Given the description of an element on the screen output the (x, y) to click on. 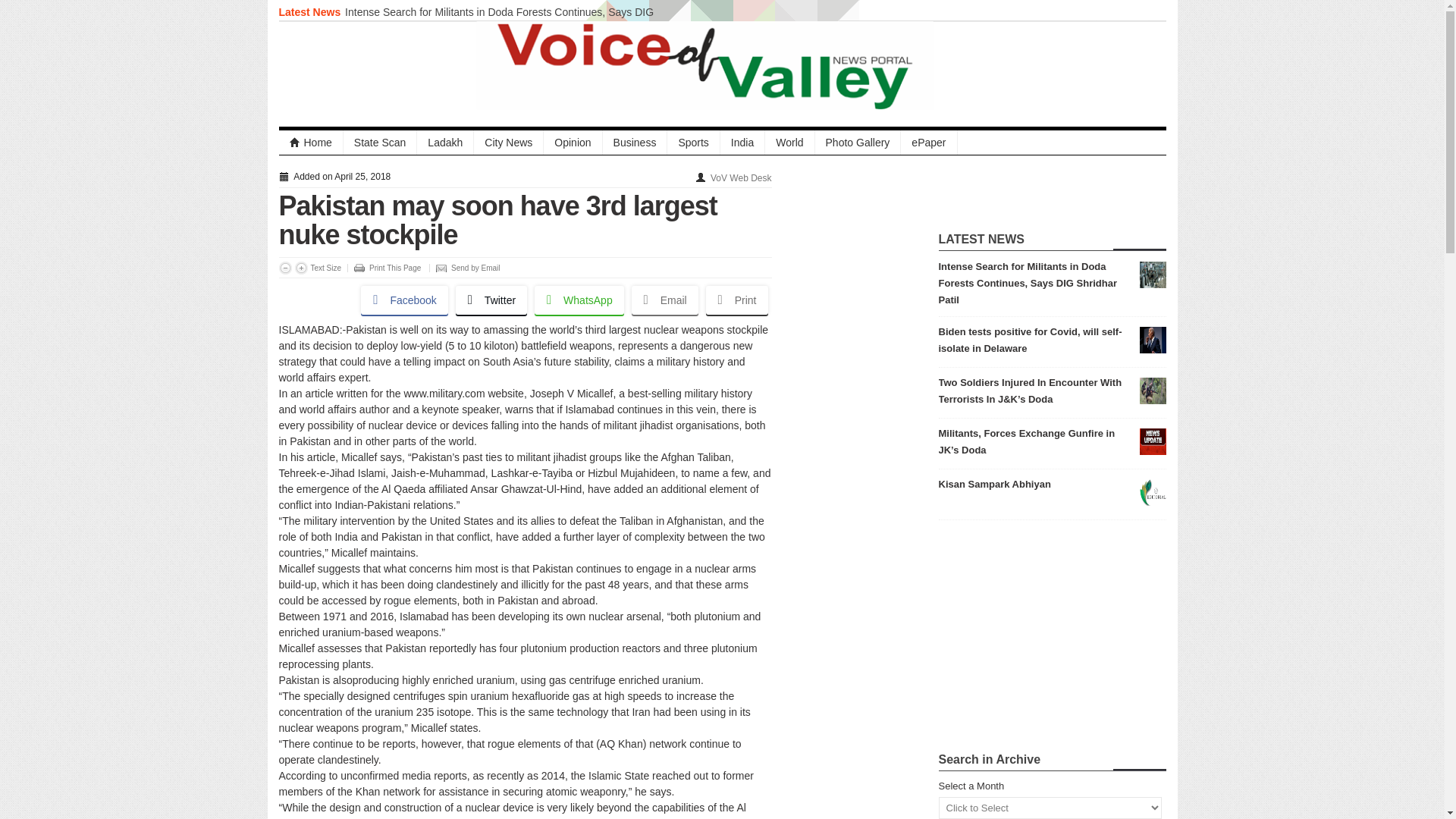
Daily Newspaper from Kashmir (311, 142)
Email (664, 299)
City News (508, 142)
Increase Font Size (300, 267)
Decrease Font Size (285, 267)
India (742, 142)
Print (737, 299)
Facebook (403, 299)
State Scan (380, 142)
Home (311, 142)
VoV Web Desk (740, 177)
Sports (692, 142)
